Given the description of an element on the screen output the (x, y) to click on. 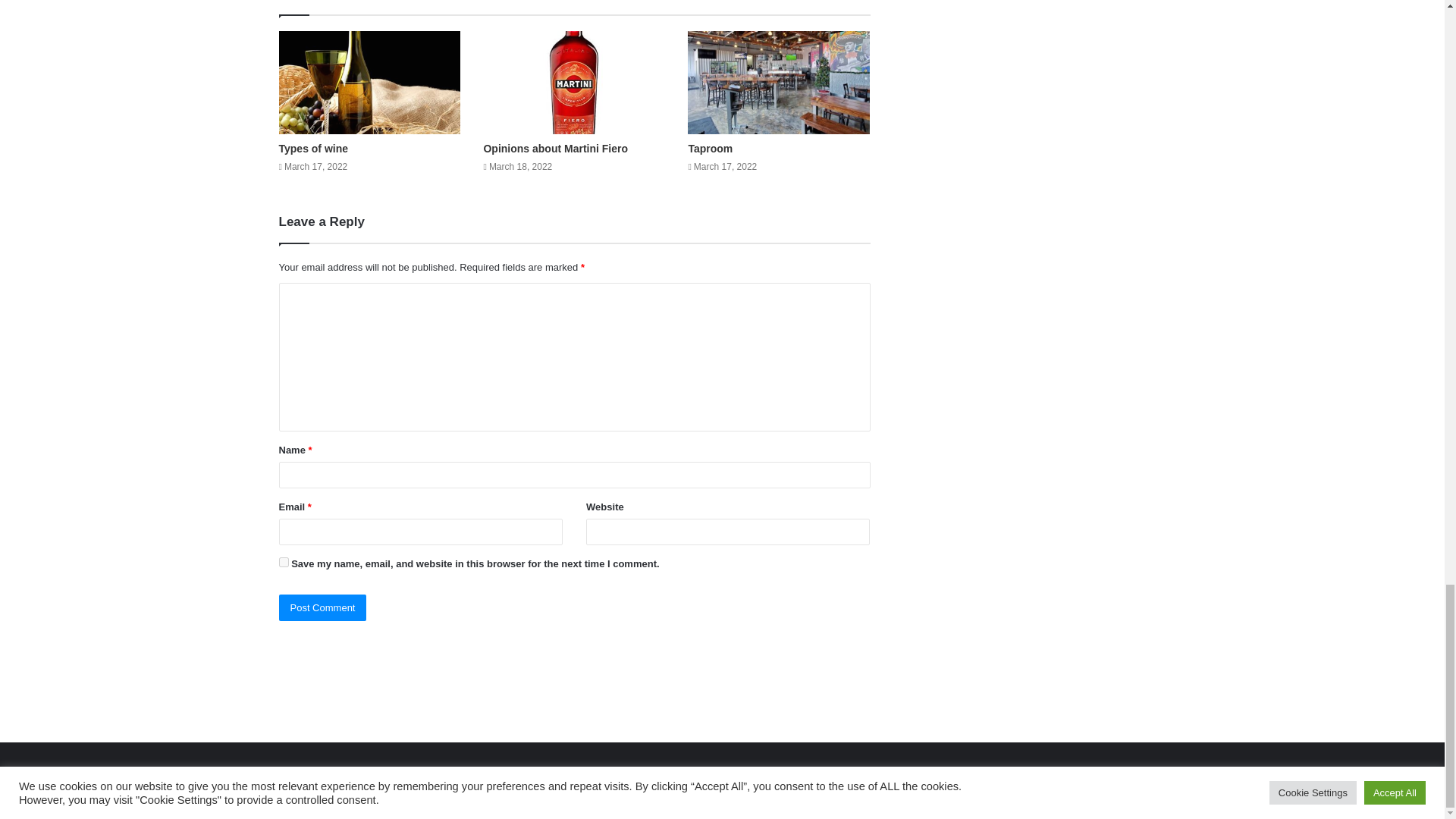
Opinions about Martini Fiero (555, 148)
Taproom (709, 148)
Types of wine (314, 148)
Post Comment (322, 606)
yes (283, 562)
Post Comment (322, 606)
